Given the description of an element on the screen output the (x, y) to click on. 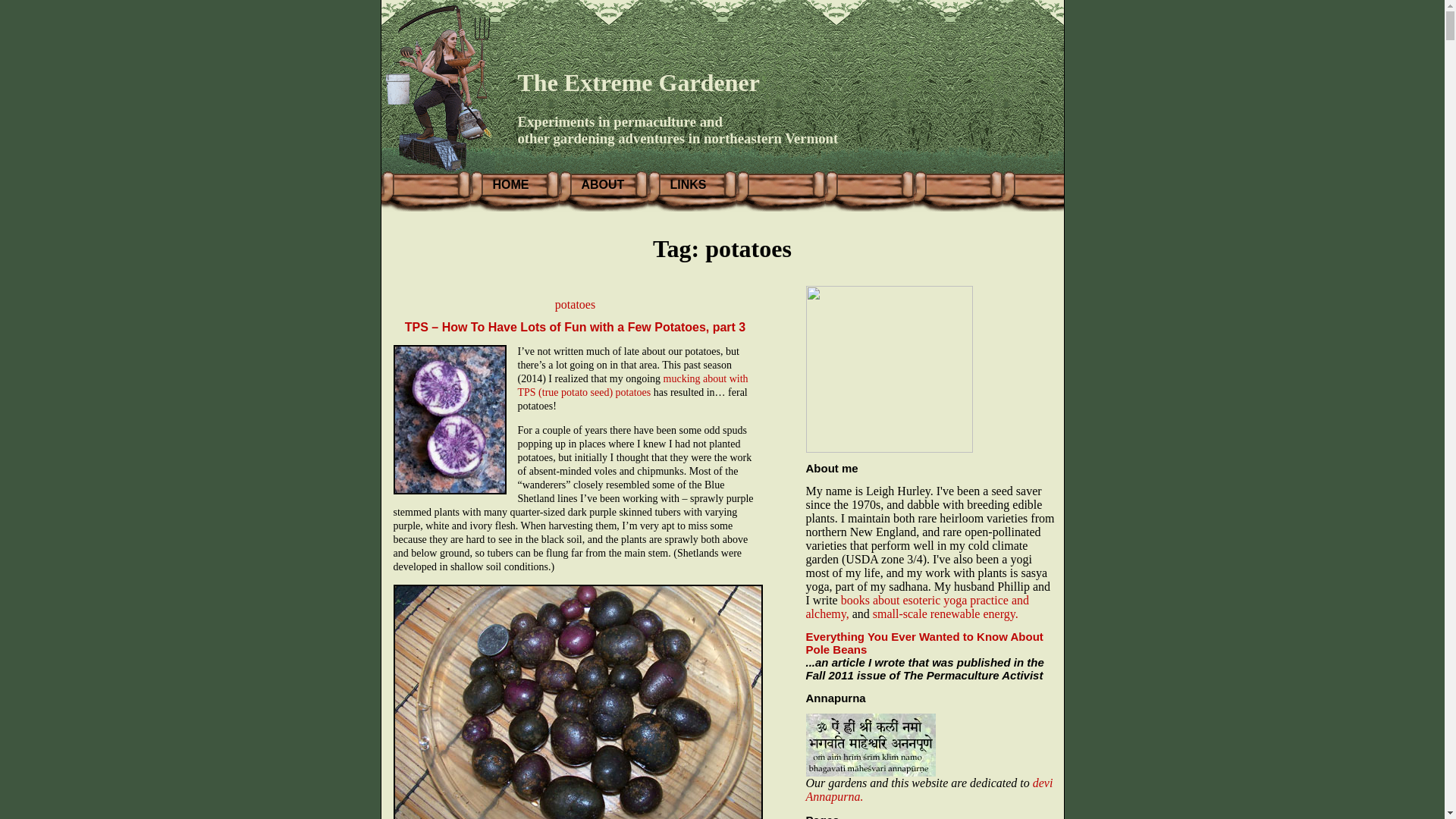
small-scale renewable energy. (944, 613)
Extreme TPS stuff (632, 385)
potatoes (574, 304)
HOME (511, 184)
books about esoteric yoga practice and alchemy, (917, 606)
ABOUT (602, 184)
devi Annapurna. (928, 789)
LINKS (687, 184)
Everything You Ever Wanted to Know About Pole Beans (923, 642)
